Given the description of an element on the screen output the (x, y) to click on. 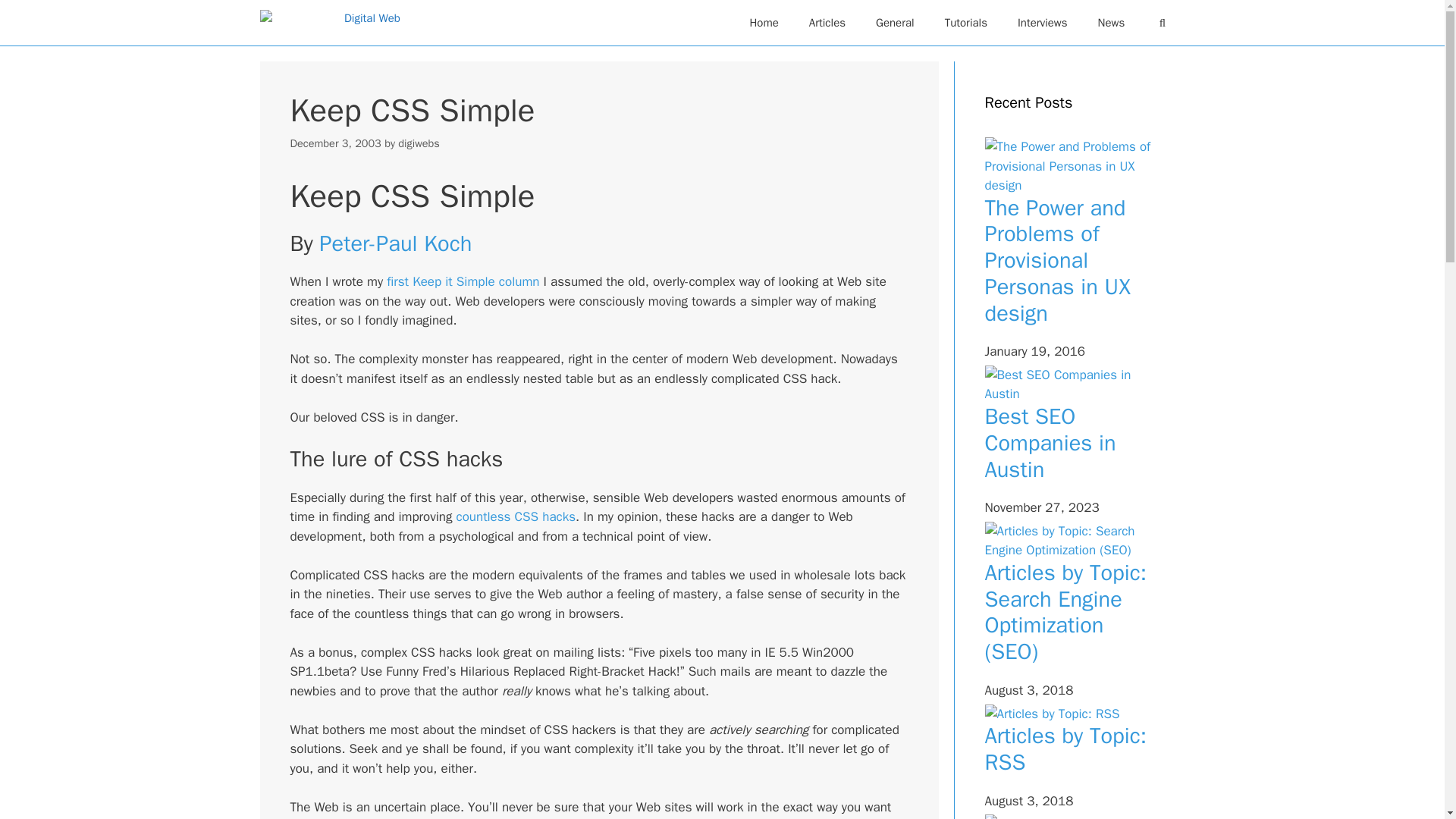
CSS hacks (545, 516)
General (895, 22)
Digital Web (328, 22)
View all posts by digiwebs (418, 142)
countless (483, 516)
Articles by Topic: RSS (1065, 748)
The Power and Problems of Provisional Personas in UX design (1056, 260)
Articles (826, 22)
Best SEO Companies in Austin (1049, 443)
Home (763, 22)
